Given the description of an element on the screen output the (x, y) to click on. 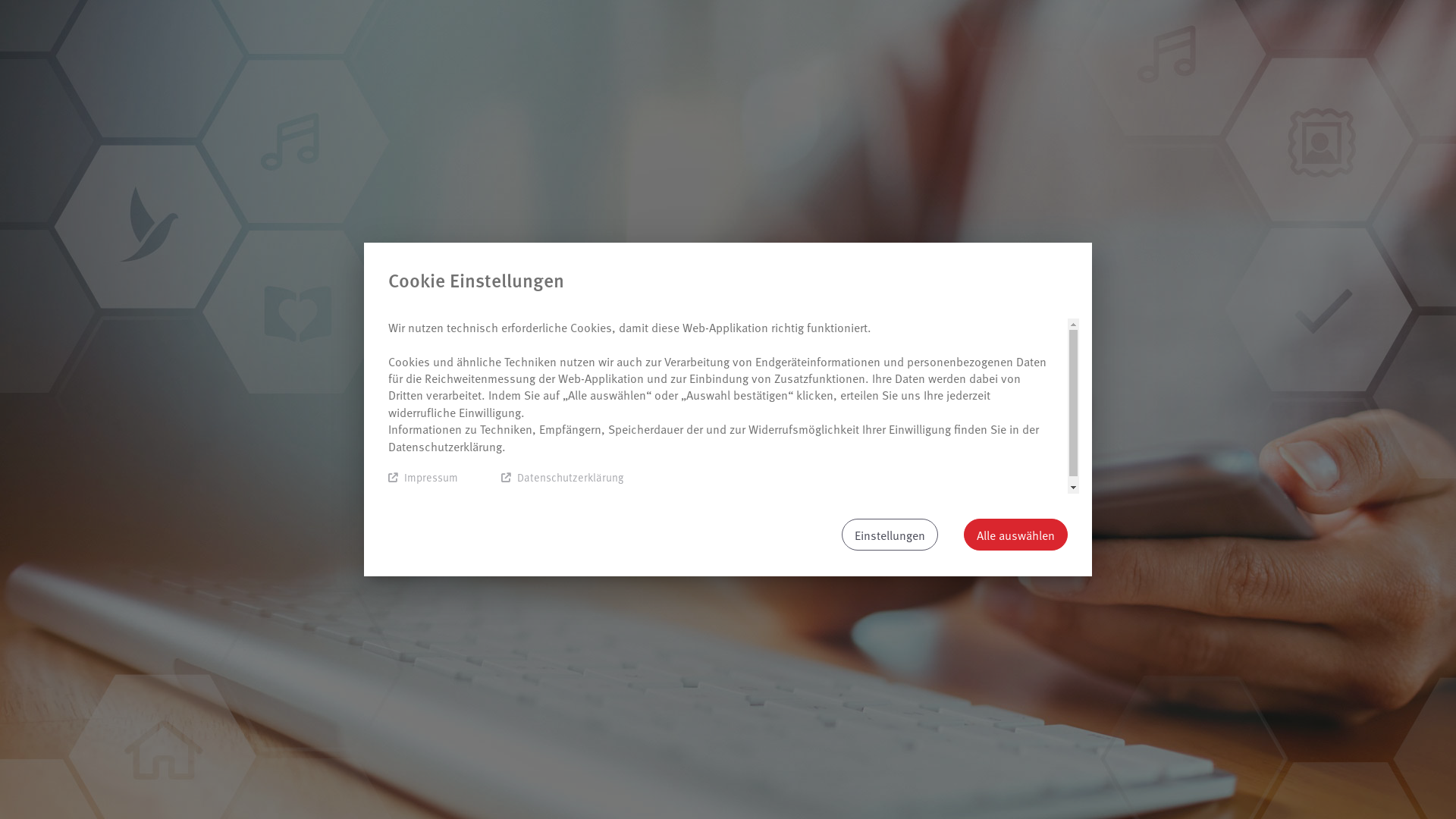
Logo Kunden-Center Element type: hover (727, 303)
Weiter zur Anmeldung Element type: text (727, 478)
Impressum Element type: text (423, 477)
Einstellungen Element type: text (889, 534)
